Given the description of an element on the screen output the (x, y) to click on. 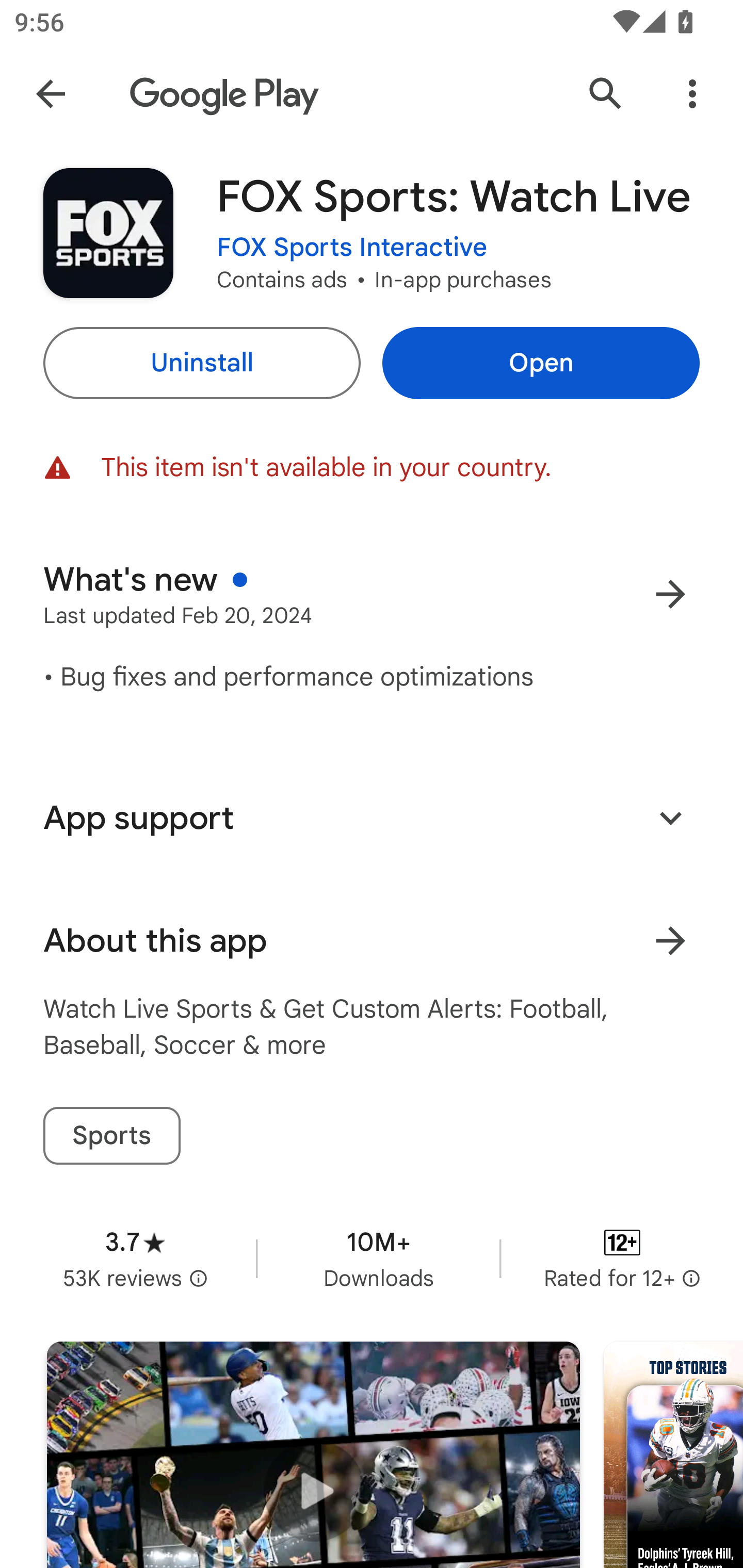
Navigate up (50, 93)
Search Google Play (605, 93)
More Options (692, 93)
FOX Sports Interactive (351, 247)
Uninstall (201, 362)
Open (540, 362)
More results for What's new (670, 594)
App support Expand (371, 817)
Expand (670, 817)
About this app Learn more About this app (371, 940)
Learn more About this app (670, 940)
Sports tag (111, 1135)
Average rating 3.7 stars in 53 thousand reviews (135, 1258)
Content rating Rated for 12+ (622, 1258)
Play trailer for "FOX Sports: Watch Live" (313, 1455)
